Given the description of an element on the screen output the (x, y) to click on. 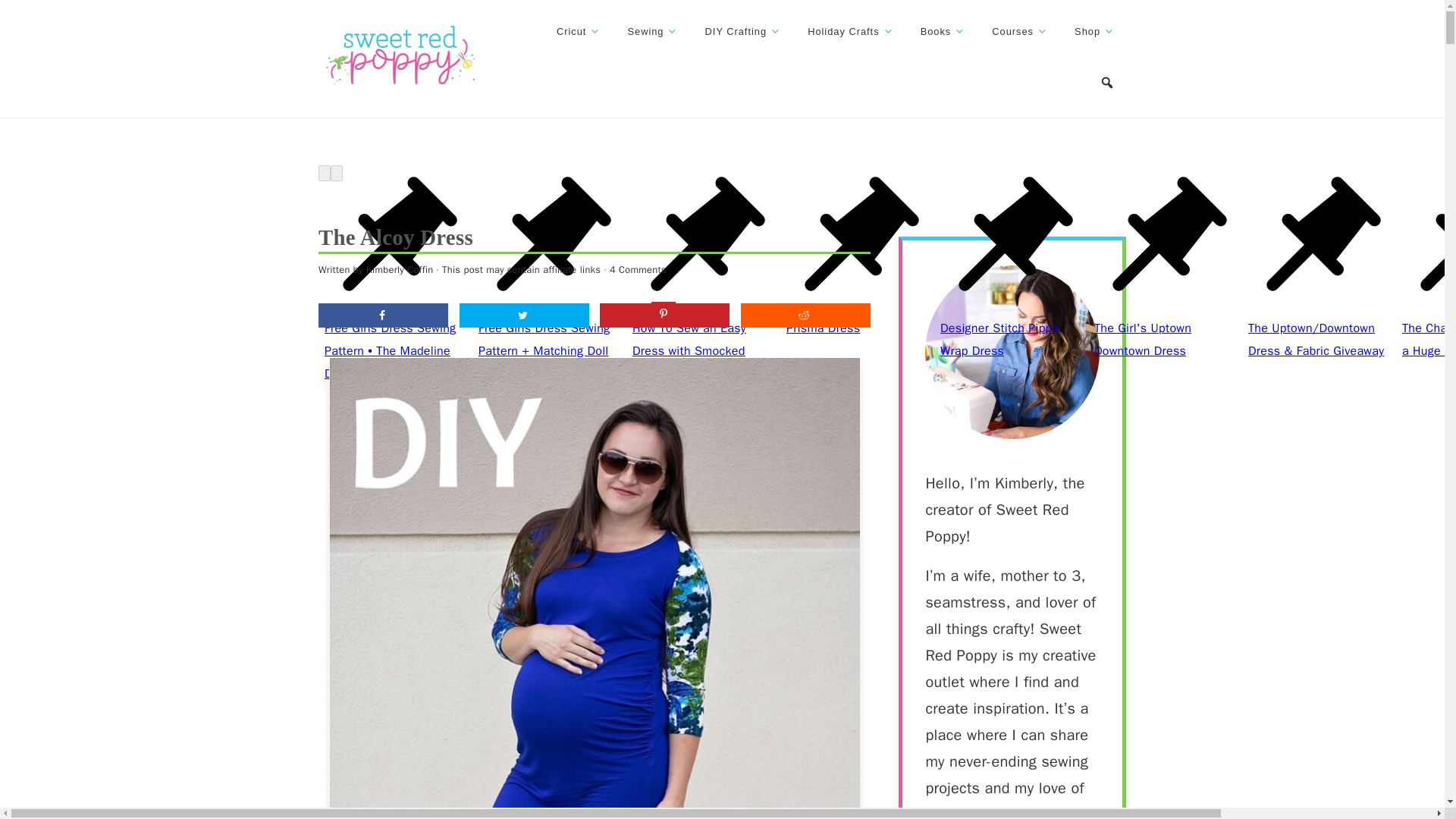
Holiday Crafts (850, 32)
Sweet Red Poppy (399, 85)
Save to Pinterest (664, 315)
Sewing (651, 32)
Cricut (577, 32)
Share on Facebook (383, 315)
Sweet Red Poppy (399, 56)
Share on Reddit (805, 315)
Share on Twitter (524, 315)
DIY Crafting (743, 32)
Books (942, 32)
